Given the description of an element on the screen output the (x, y) to click on. 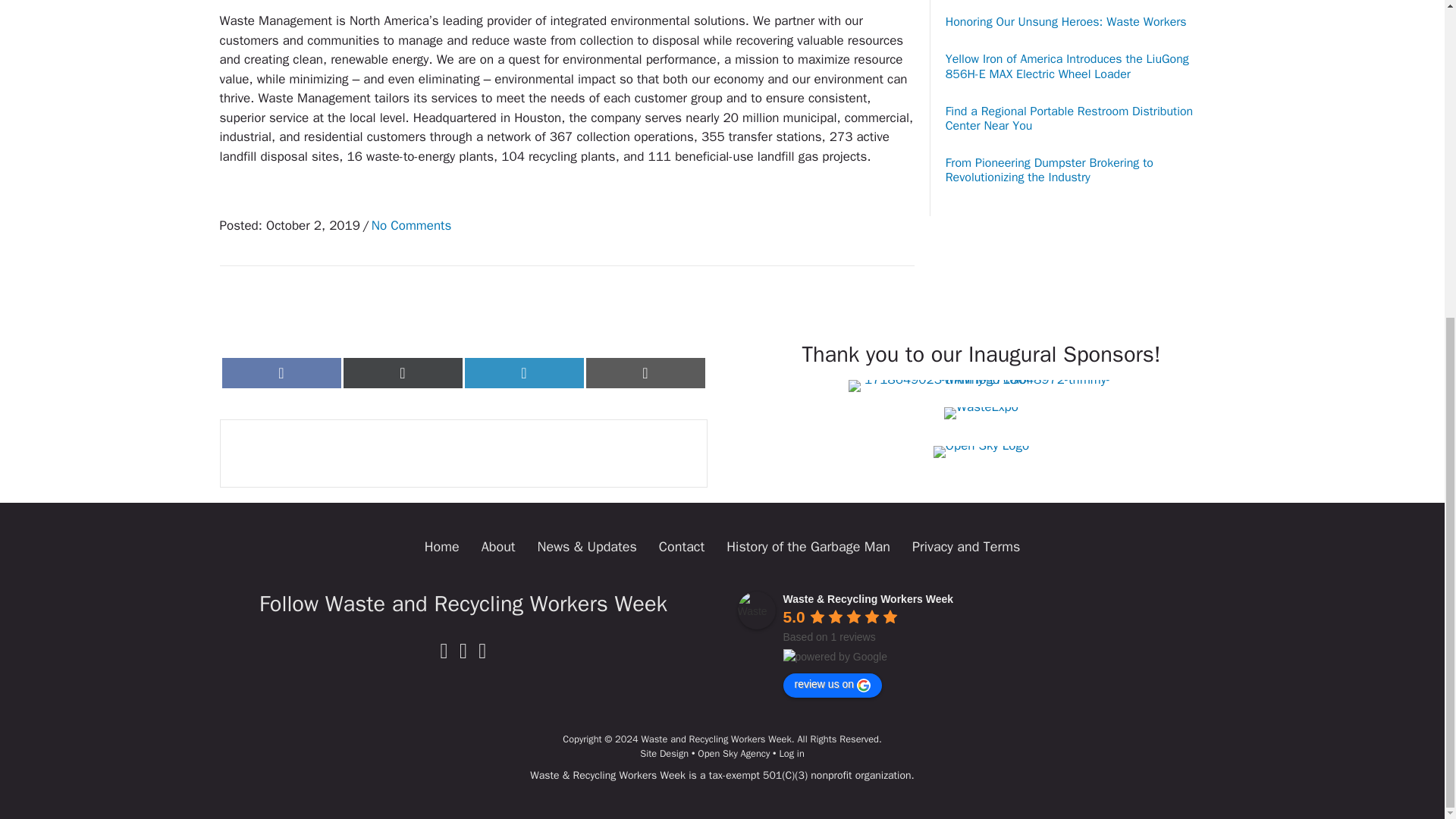
No Comments (411, 225)
Share on Facebook (280, 372)
Honoring Our Unsung Heroes: Waste Workers (1065, 21)
Share on LinkedIn (523, 372)
Honoring Our Unsung Heroes: Waste Workers (1065, 21)
